Given the description of an element on the screen output the (x, y) to click on. 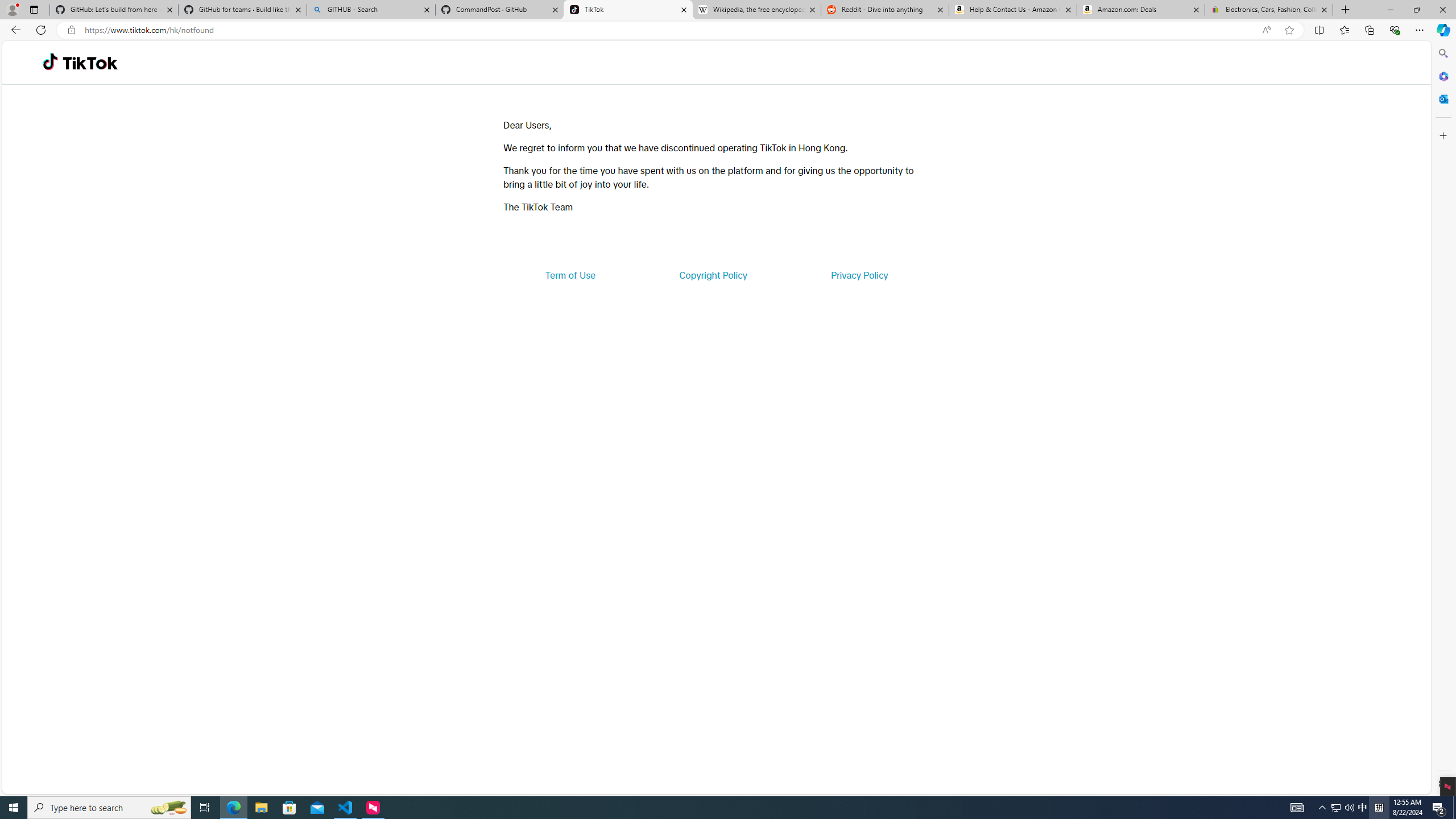
GITHUB - Search (370, 9)
Copyright Policy (712, 274)
